Given the description of an element on the screen output the (x, y) to click on. 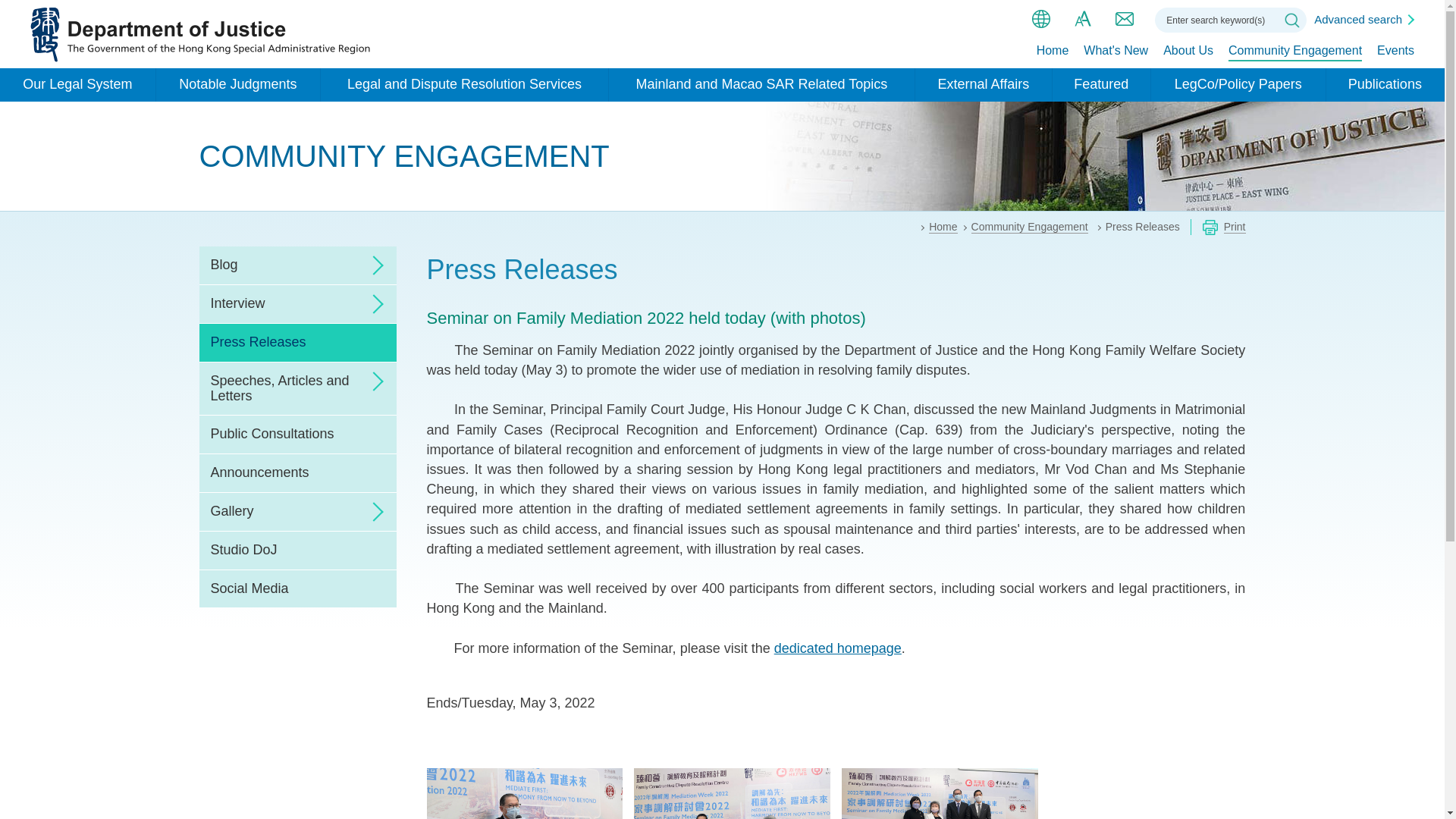
Press Releases (297, 342)
Interview (297, 303)
language (1040, 18)
Contact us (1124, 18)
Blog (297, 265)
Font size (1082, 18)
Speeches, Articles and Letters (297, 388)
